Given the description of an element on the screen output the (x, y) to click on. 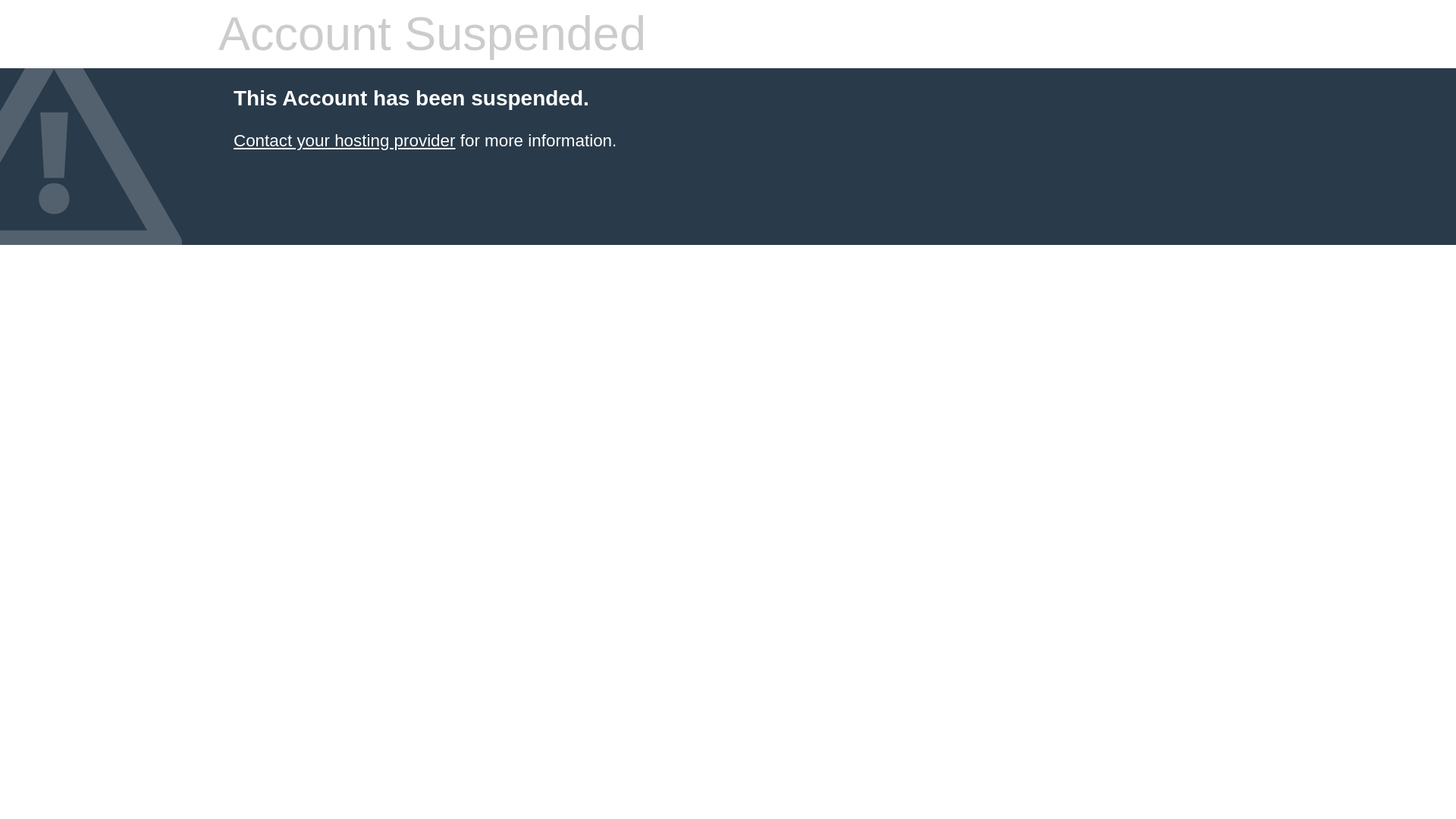
Contact your hosting provider (343, 140)
